Given the description of an element on the screen output the (x, y) to click on. 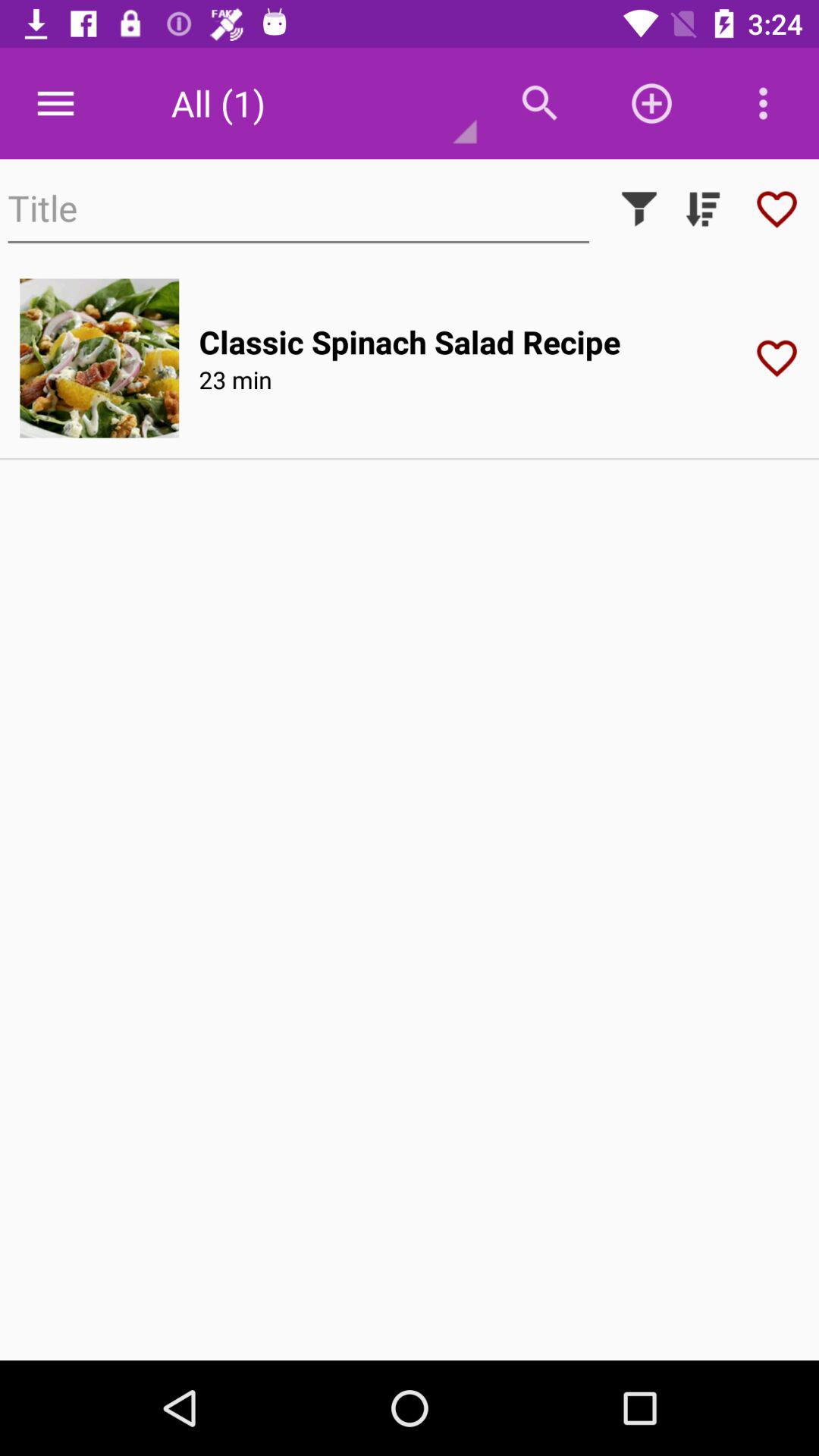
choose 23 min (235, 379)
